Given the description of an element on the screen output the (x, y) to click on. 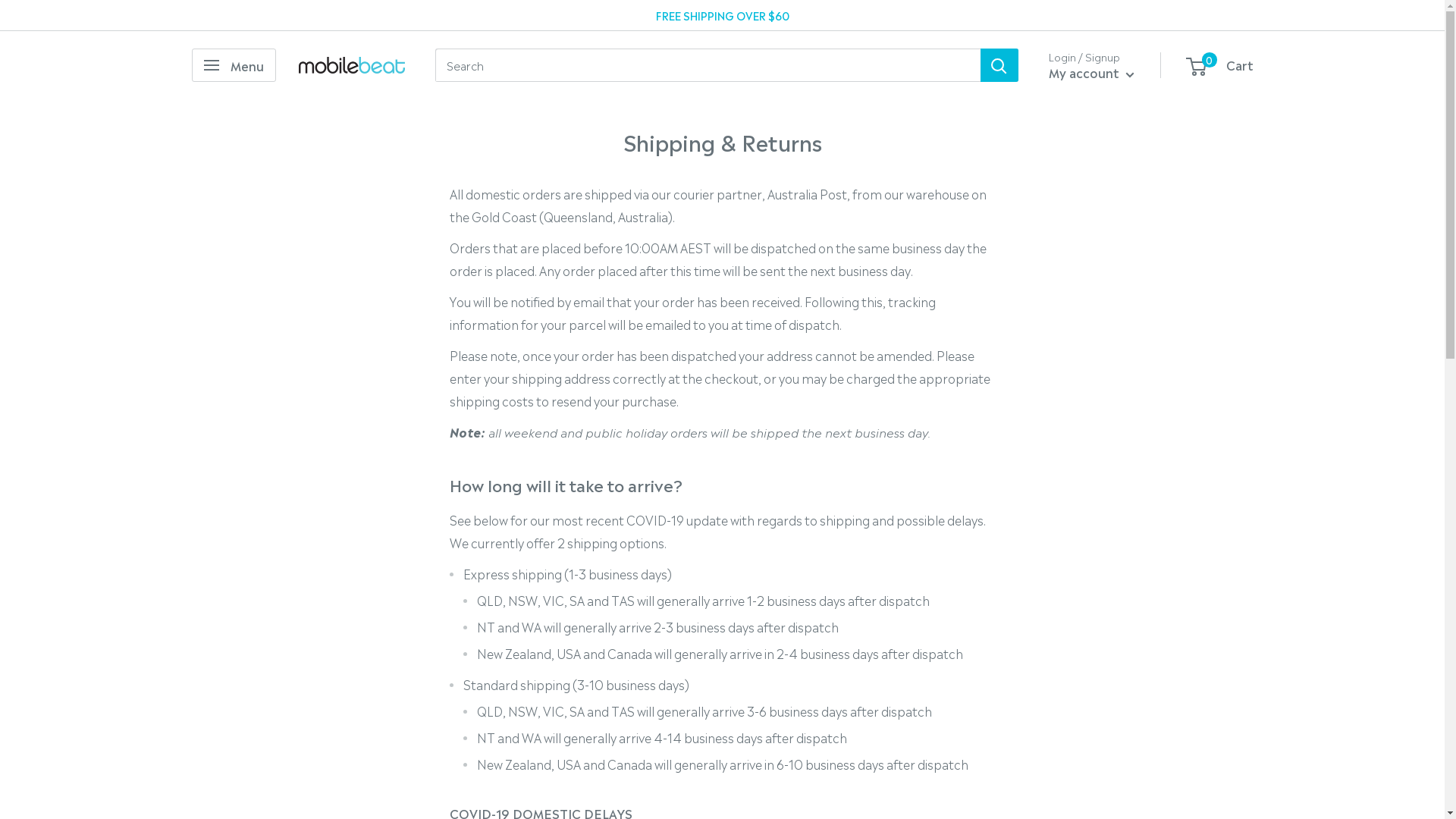
0
Cart Element type: text (1220, 64)
Mobilebeat Element type: text (351, 64)
Menu Element type: text (233, 64)
My account Element type: text (1090, 72)
